Given the description of an element on the screen output the (x, y) to click on. 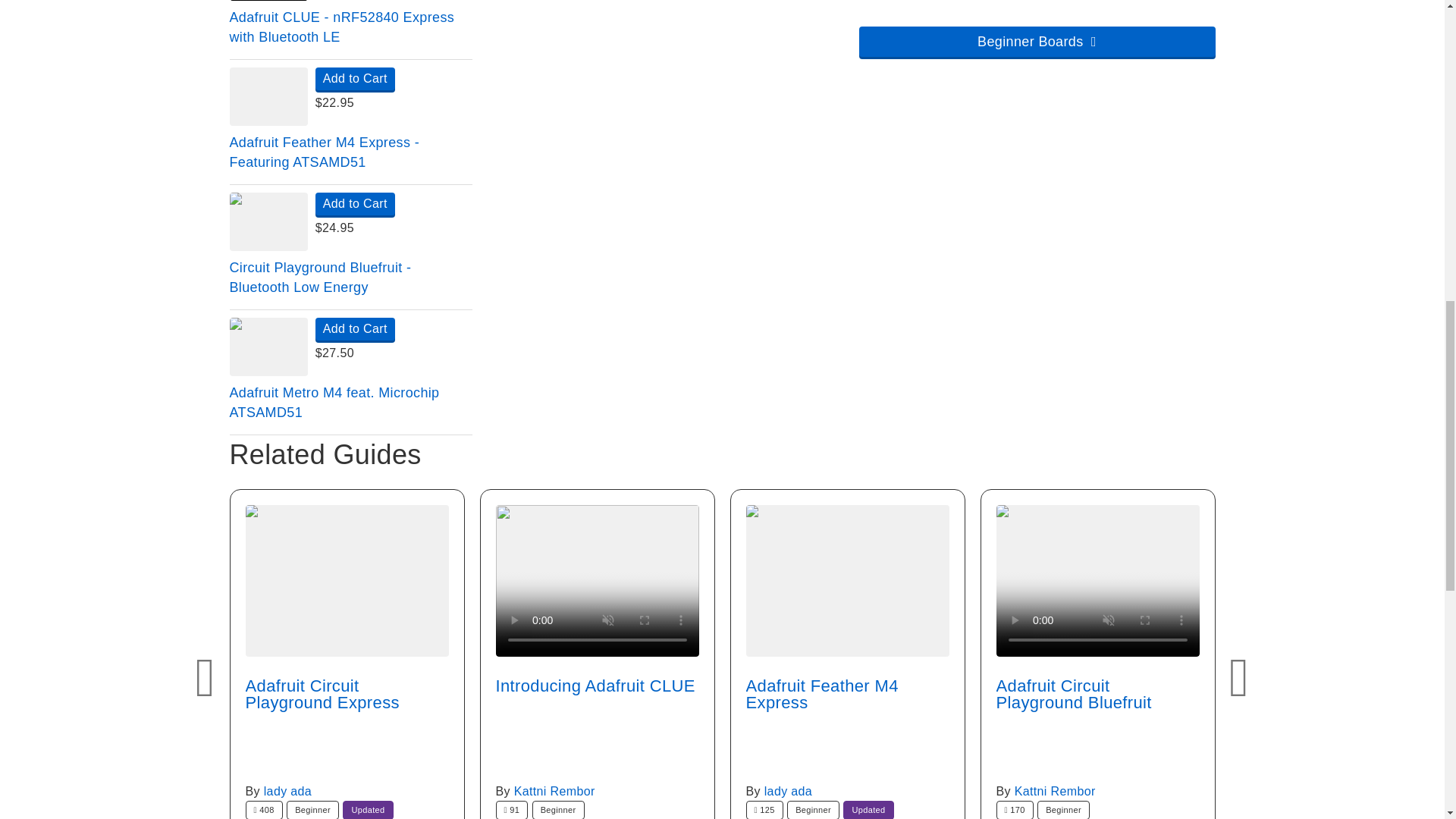
Saves (264, 809)
Saves (1014, 809)
Saves (764, 809)
Saves (512, 809)
